Given the description of an element on the screen output the (x, y) to click on. 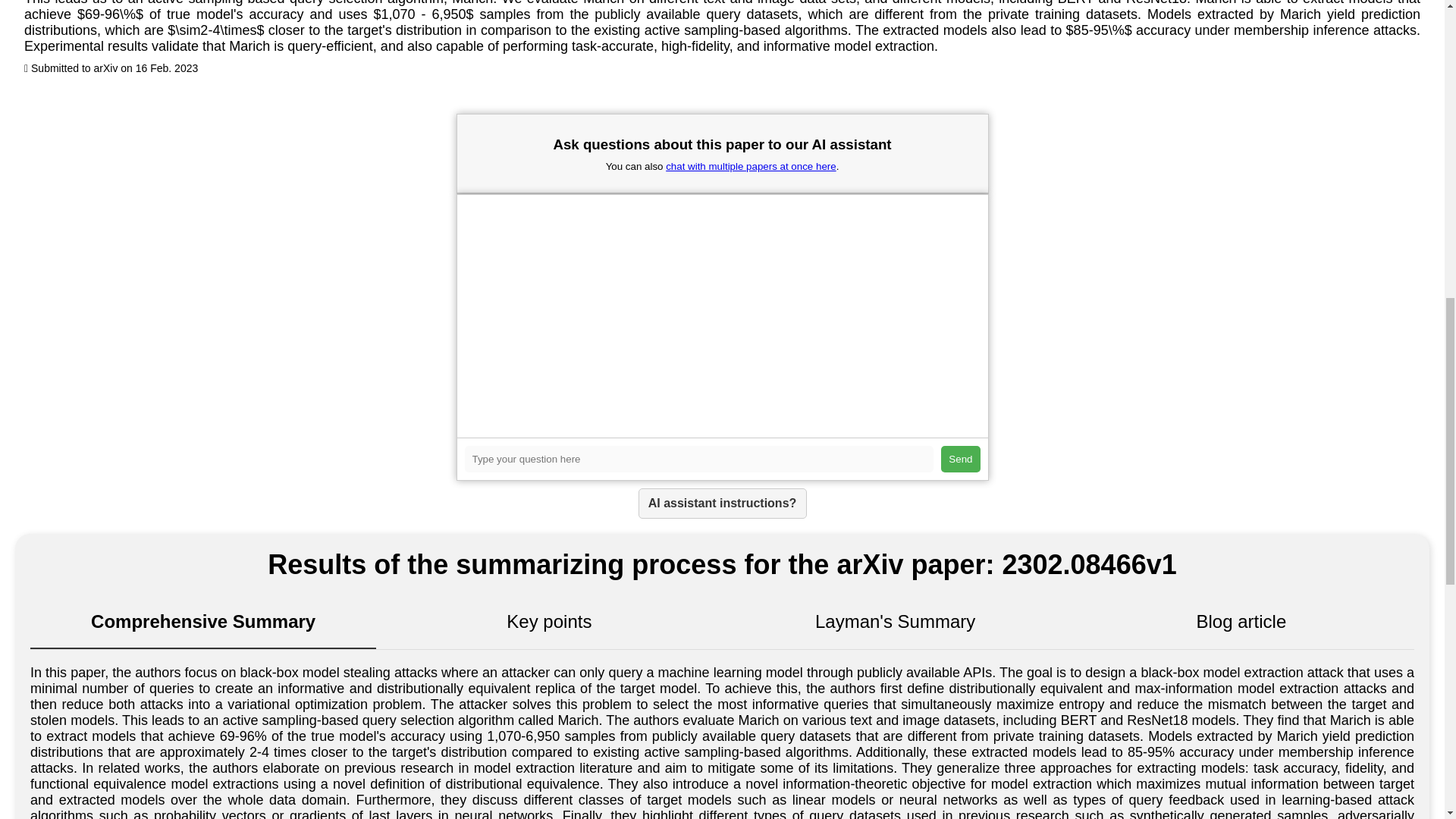
Send (959, 458)
AI assistant instructions? (722, 503)
chat with multiple papers at once here (750, 165)
